Given the description of an element on the screen output the (x, y) to click on. 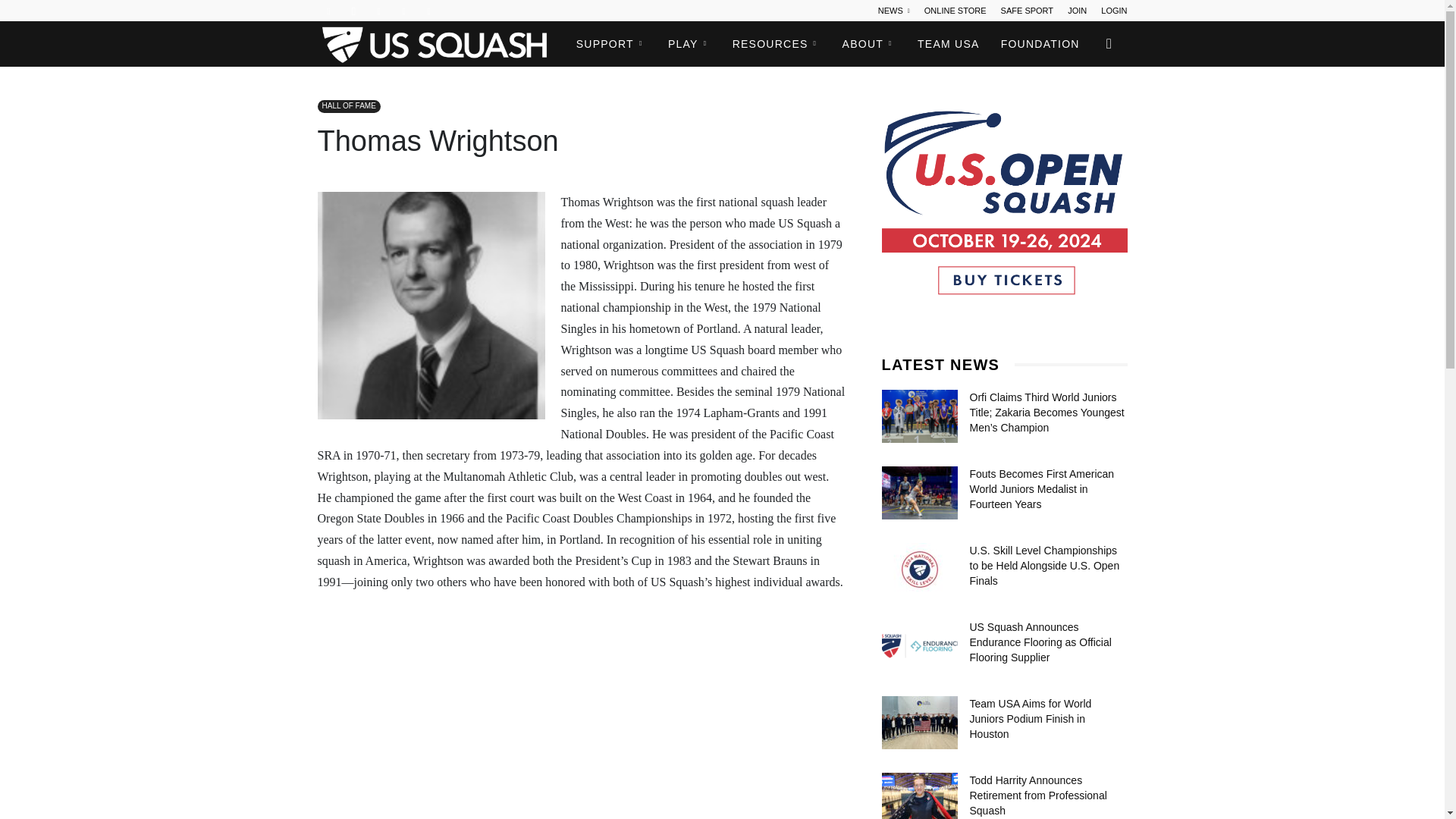
Youtube (429, 10)
Soundcloud (379, 10)
Twitter (403, 10)
Facebook (328, 10)
Instagram (353, 10)
